Given the description of an element on the screen output the (x, y) to click on. 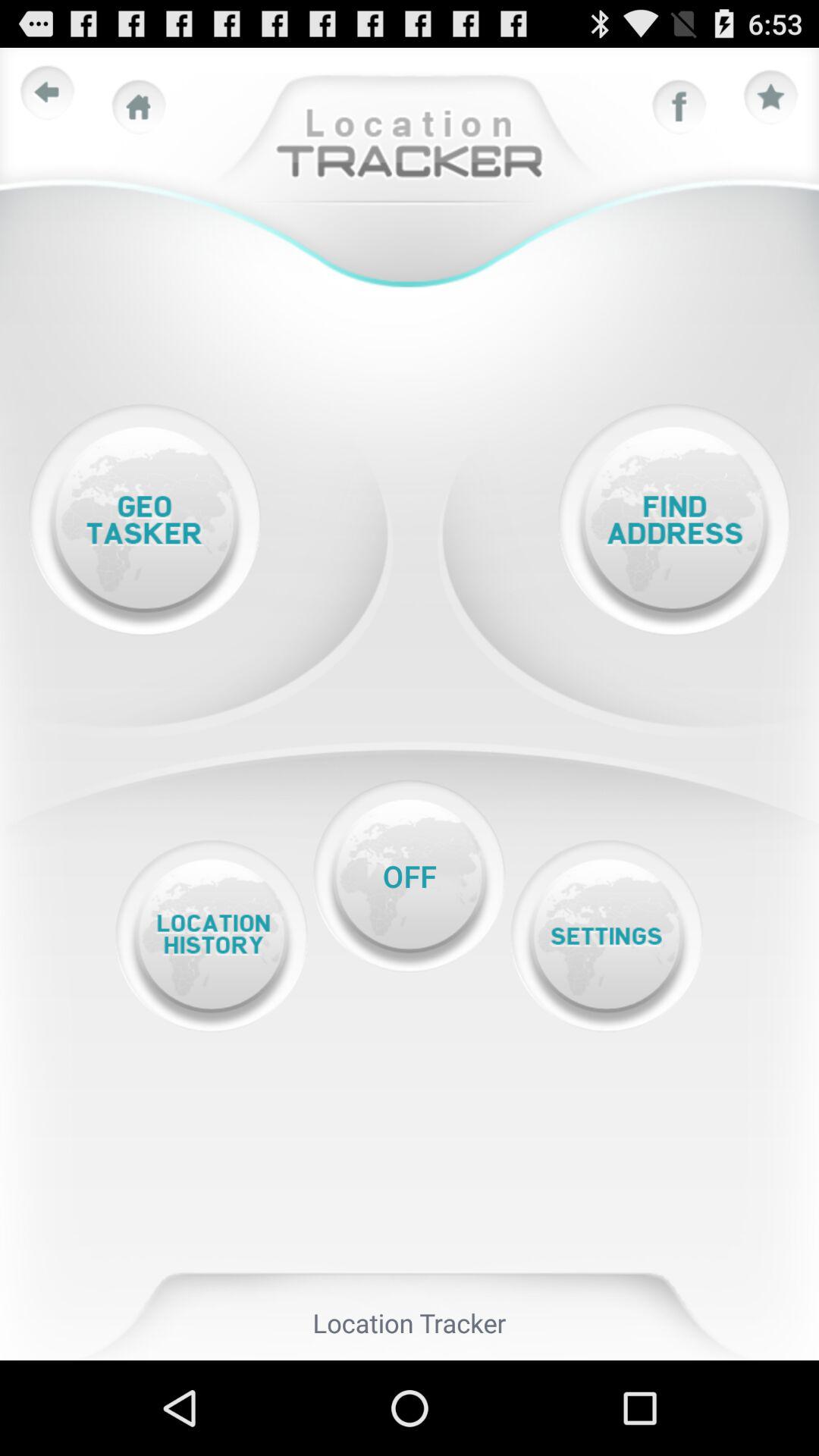
go to previous (47, 93)
